Given the description of an element on the screen output the (x, y) to click on. 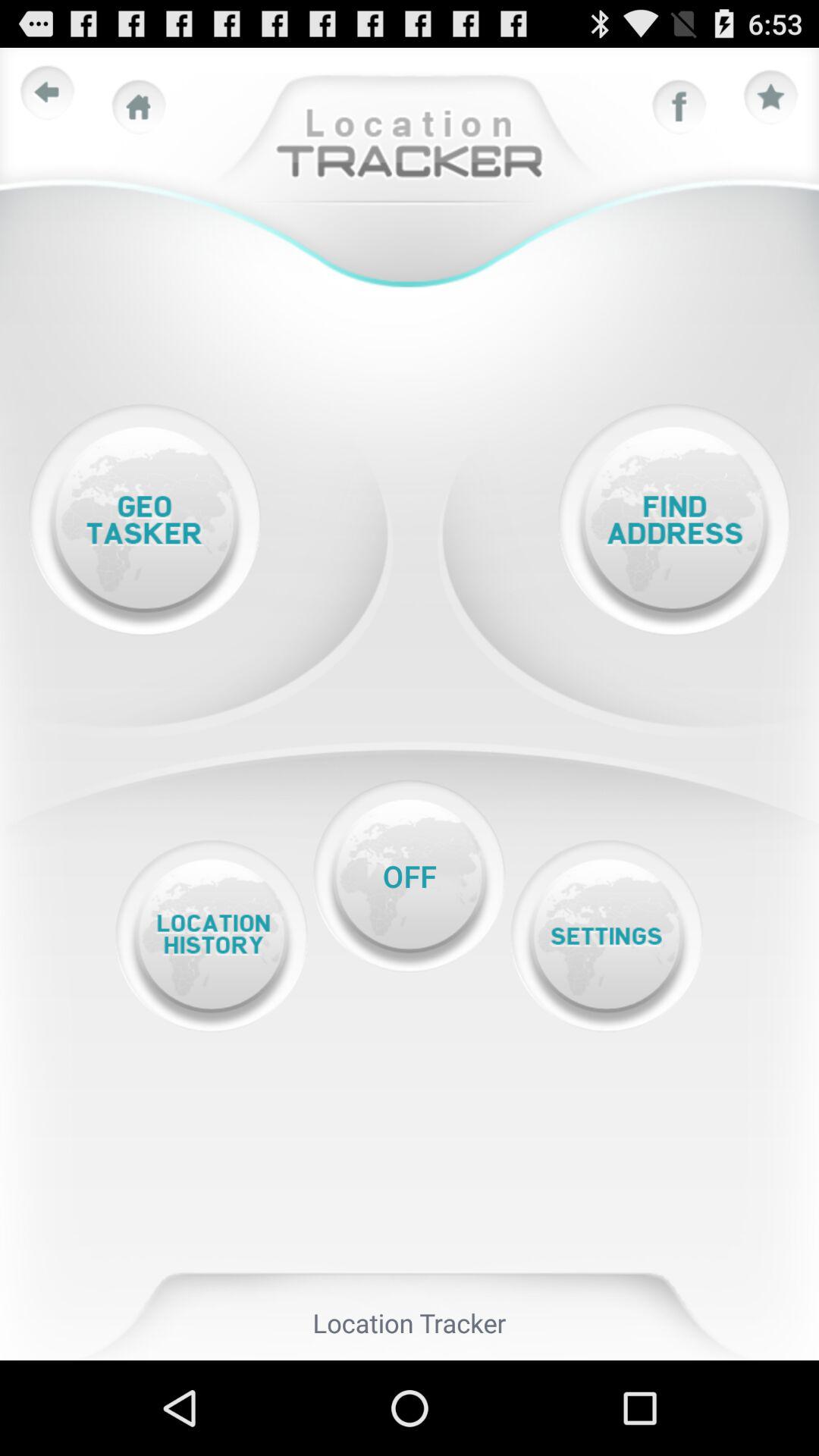
go to previous (47, 93)
